Given the description of an element on the screen output the (x, y) to click on. 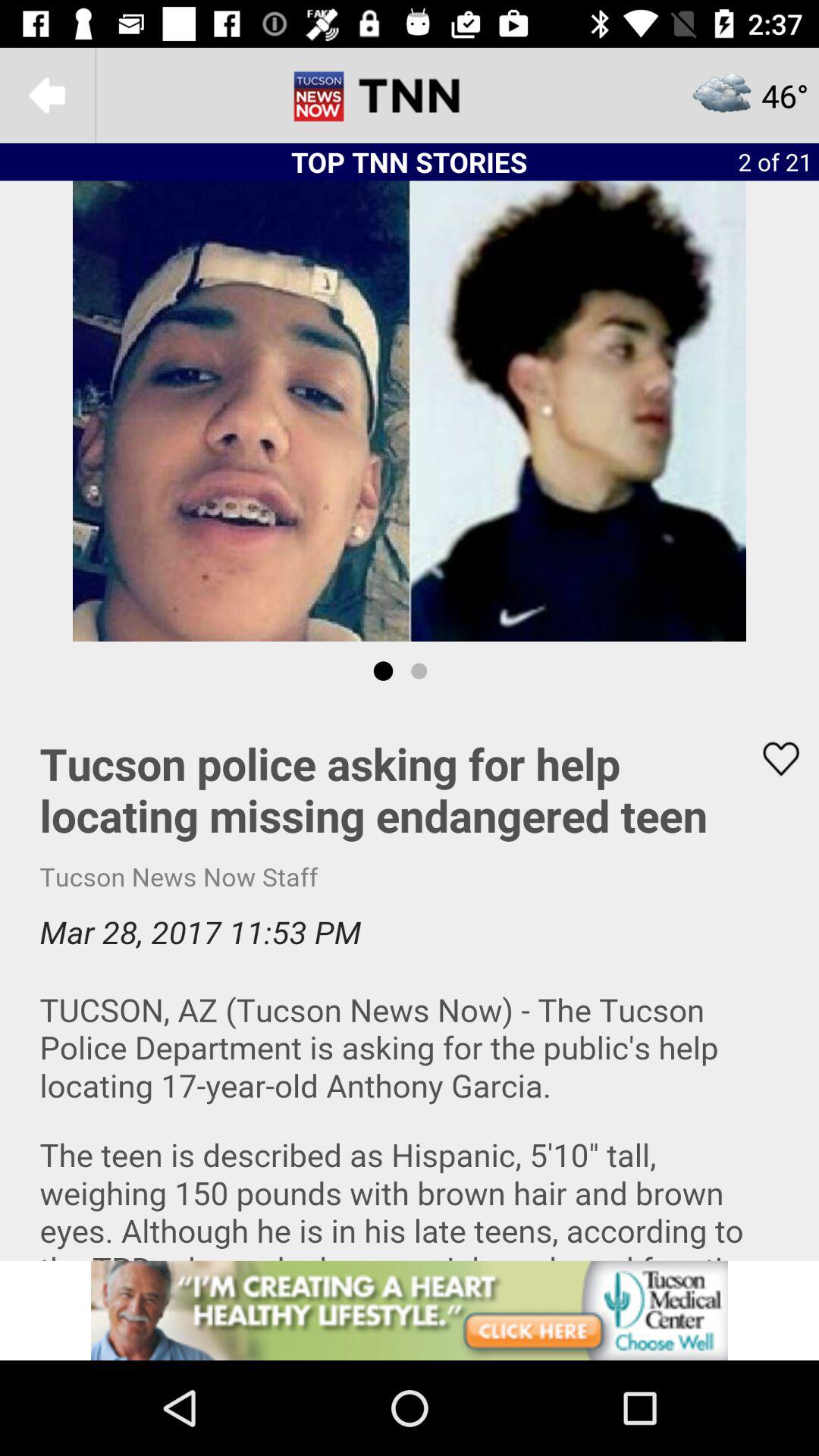
go to this website (409, 1310)
